Given the description of an element on the screen output the (x, y) to click on. 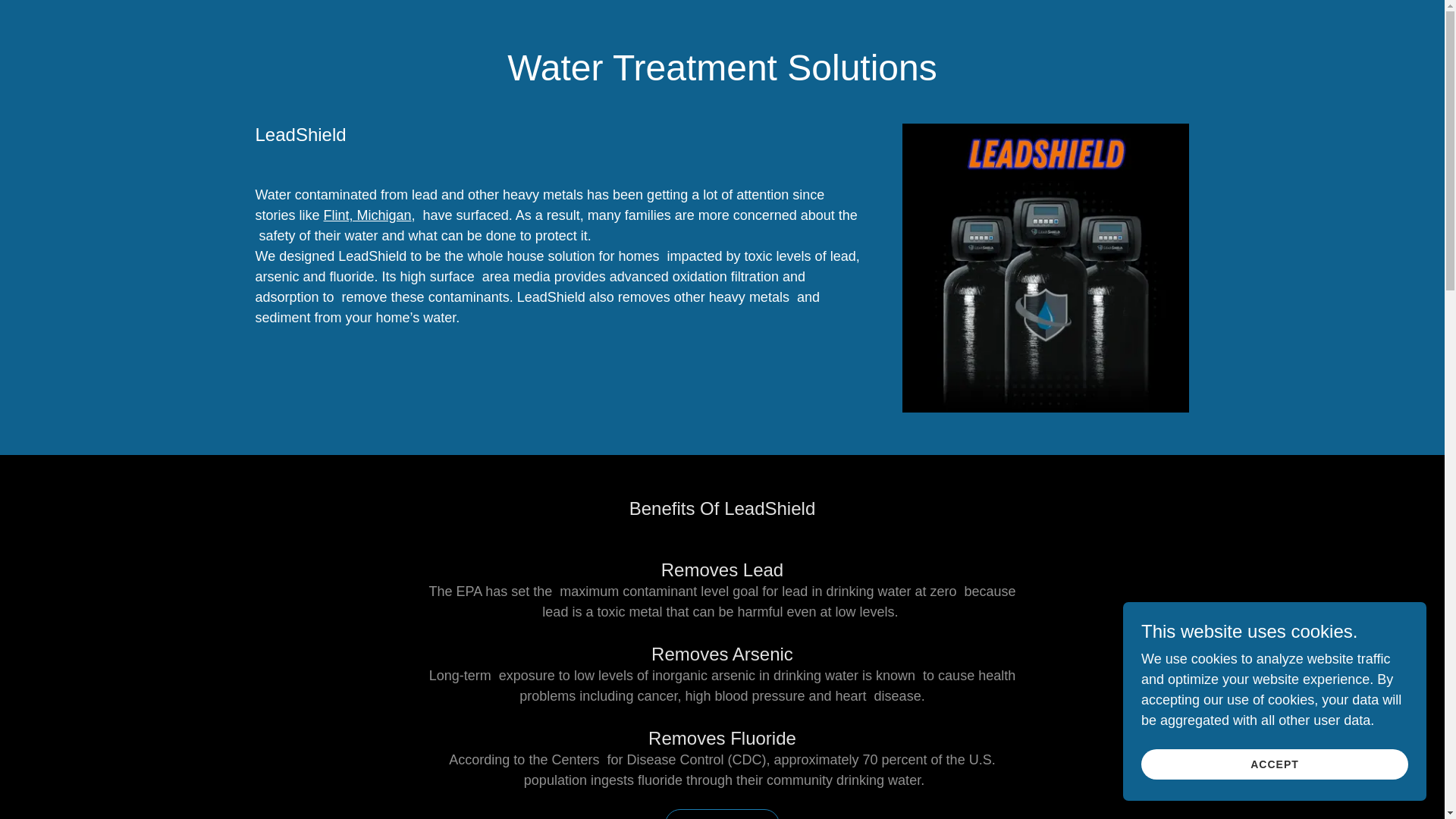
ACCEPT (1274, 764)
Flint, Michigan (367, 215)
CONTACT US (721, 814)
